Given the description of an element on the screen output the (x, y) to click on. 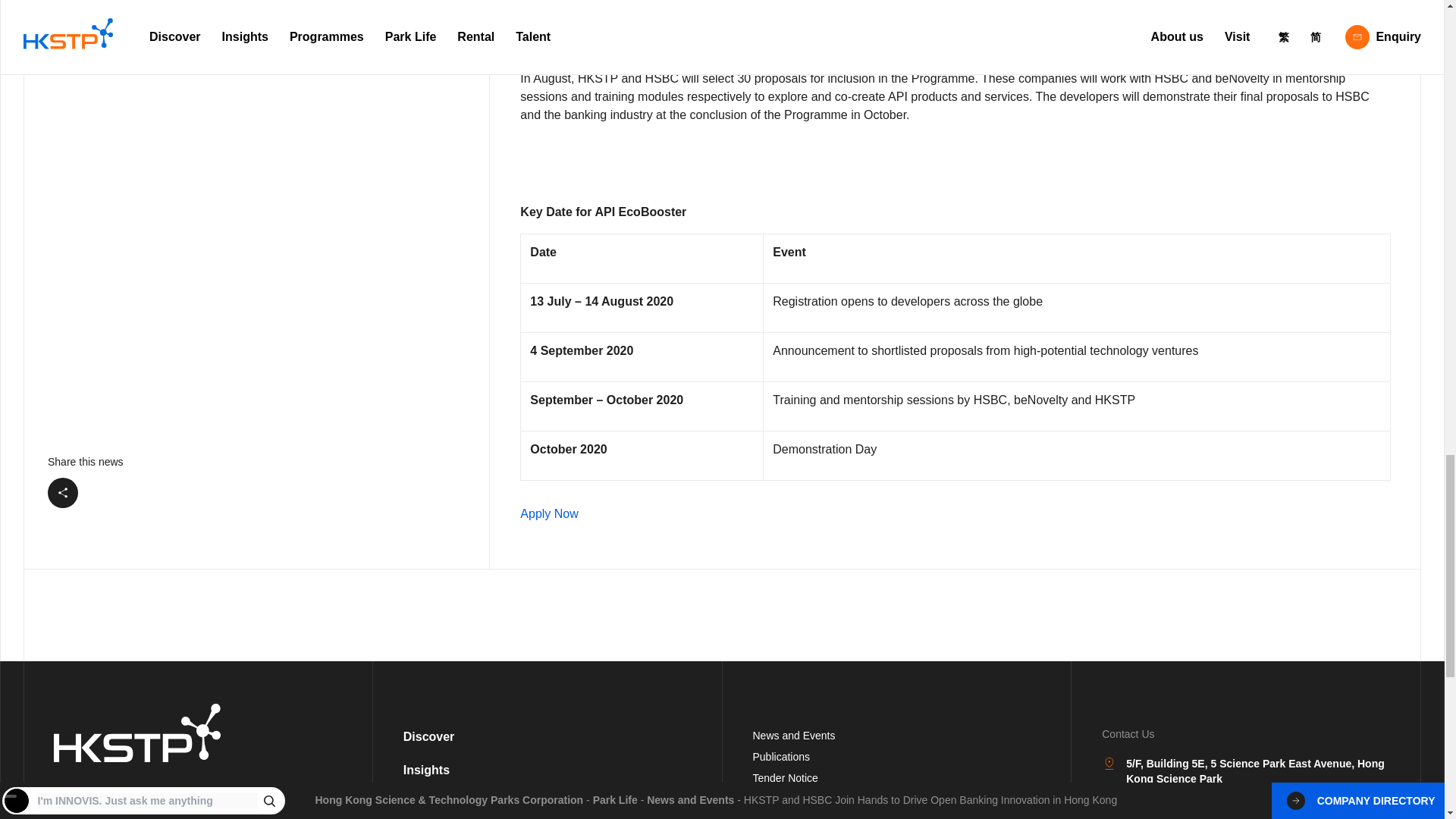
News and Events (793, 735)
Discover (428, 736)
Programmes (440, 802)
Publications (780, 756)
Insights (426, 769)
